Given the description of an element on the screen output the (x, y) to click on. 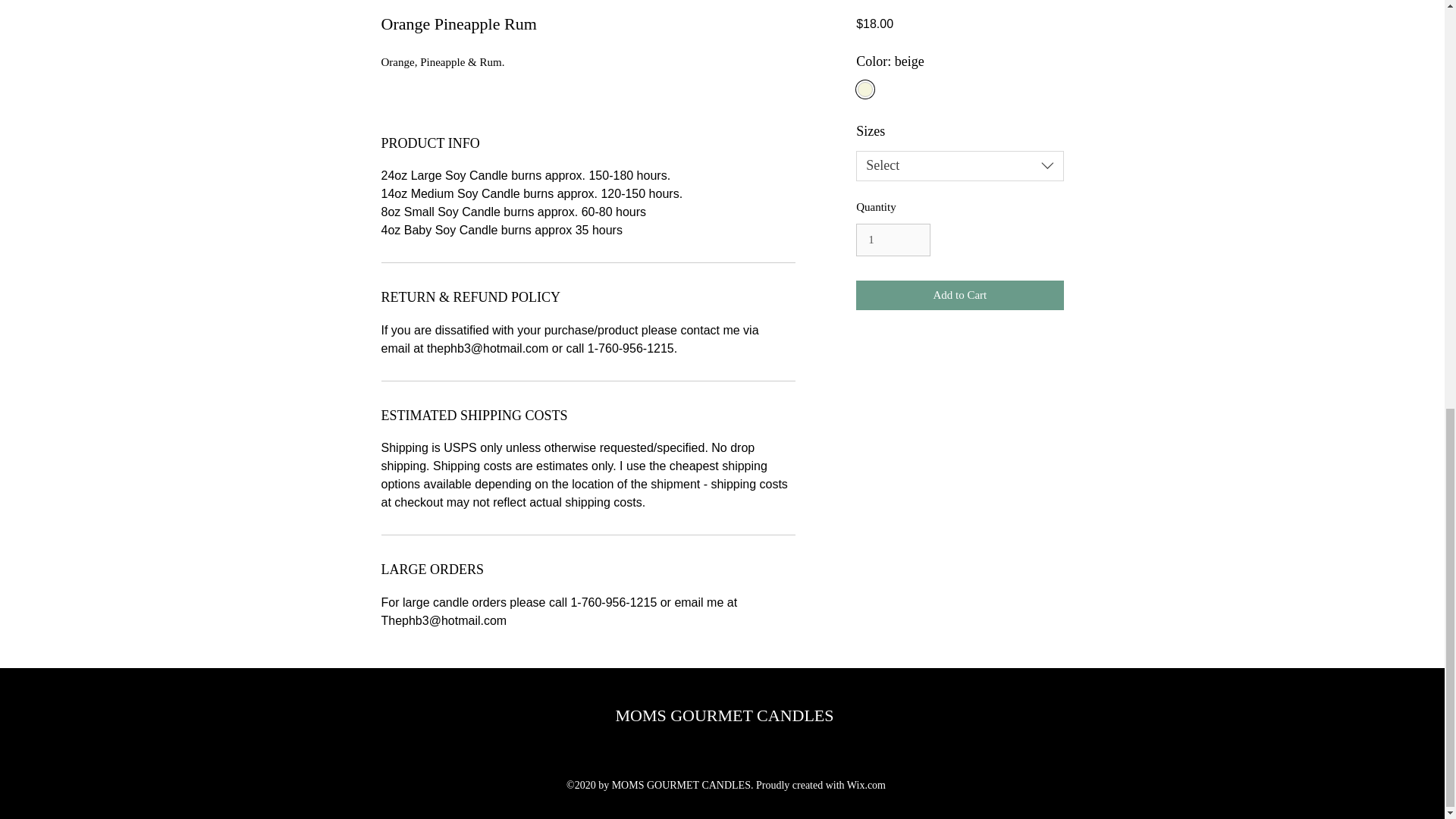
1 (893, 240)
MOMS GOURMET CANDLES (723, 714)
Select (959, 165)
Add to Cart (959, 295)
